Given the description of an element on the screen output the (x, y) to click on. 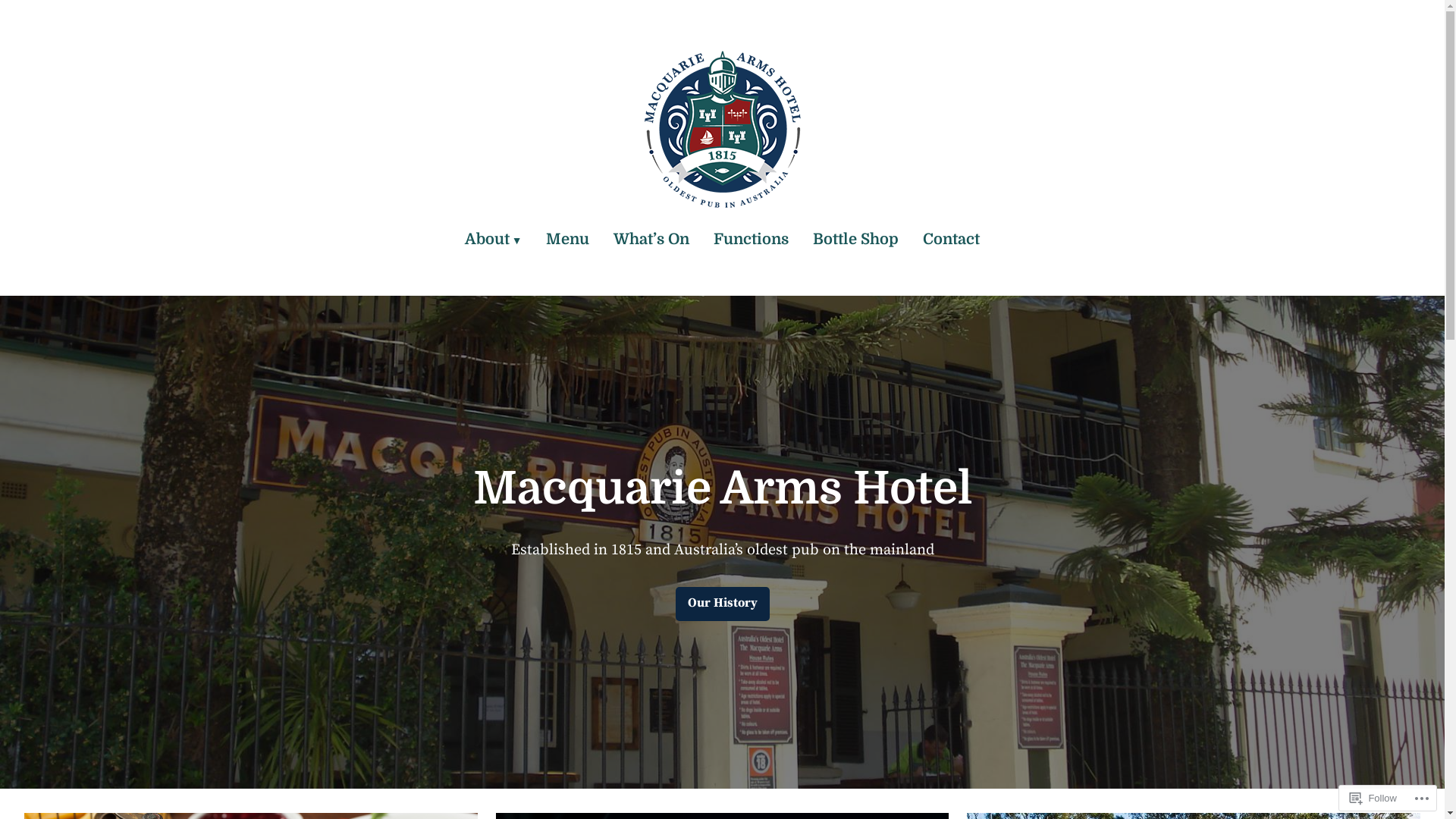
Menu Element type: text (567, 240)
Follow Element type: text (1372, 797)
Functions Element type: text (750, 240)
Our History Element type: text (721, 603)
About Element type: text (499, 240)
Bottle Shop Element type: text (855, 240)
Contact Element type: text (944, 240)
